Given the description of an element on the screen output the (x, y) to click on. 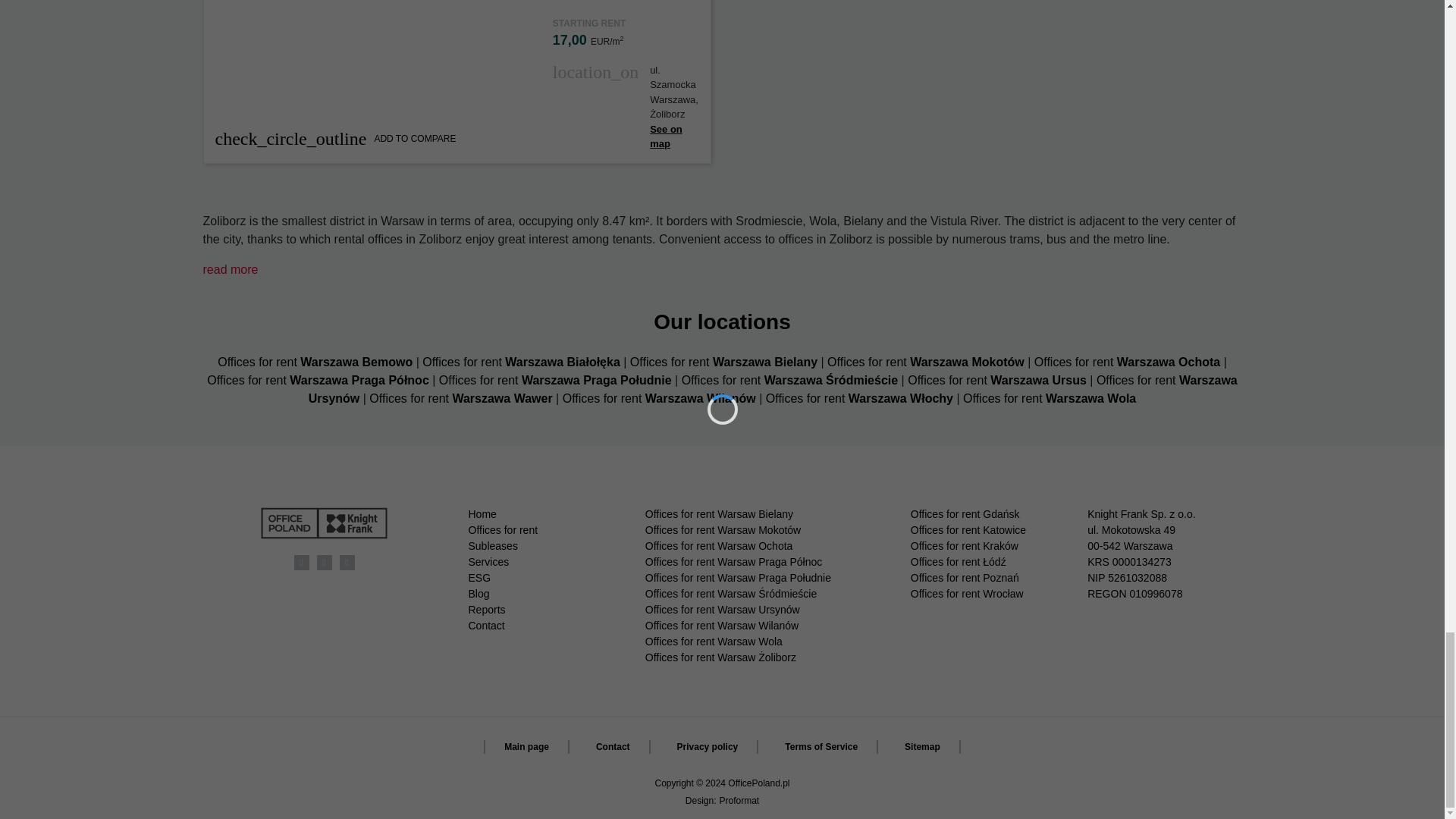
Main page (526, 746)
Sitemap (922, 746)
Contact (613, 746)
Agencja Interaktywna Proformat (738, 799)
Terms of Service (821, 746)
Privacy policy (708, 746)
